Given the description of an element on the screen output the (x, y) to click on. 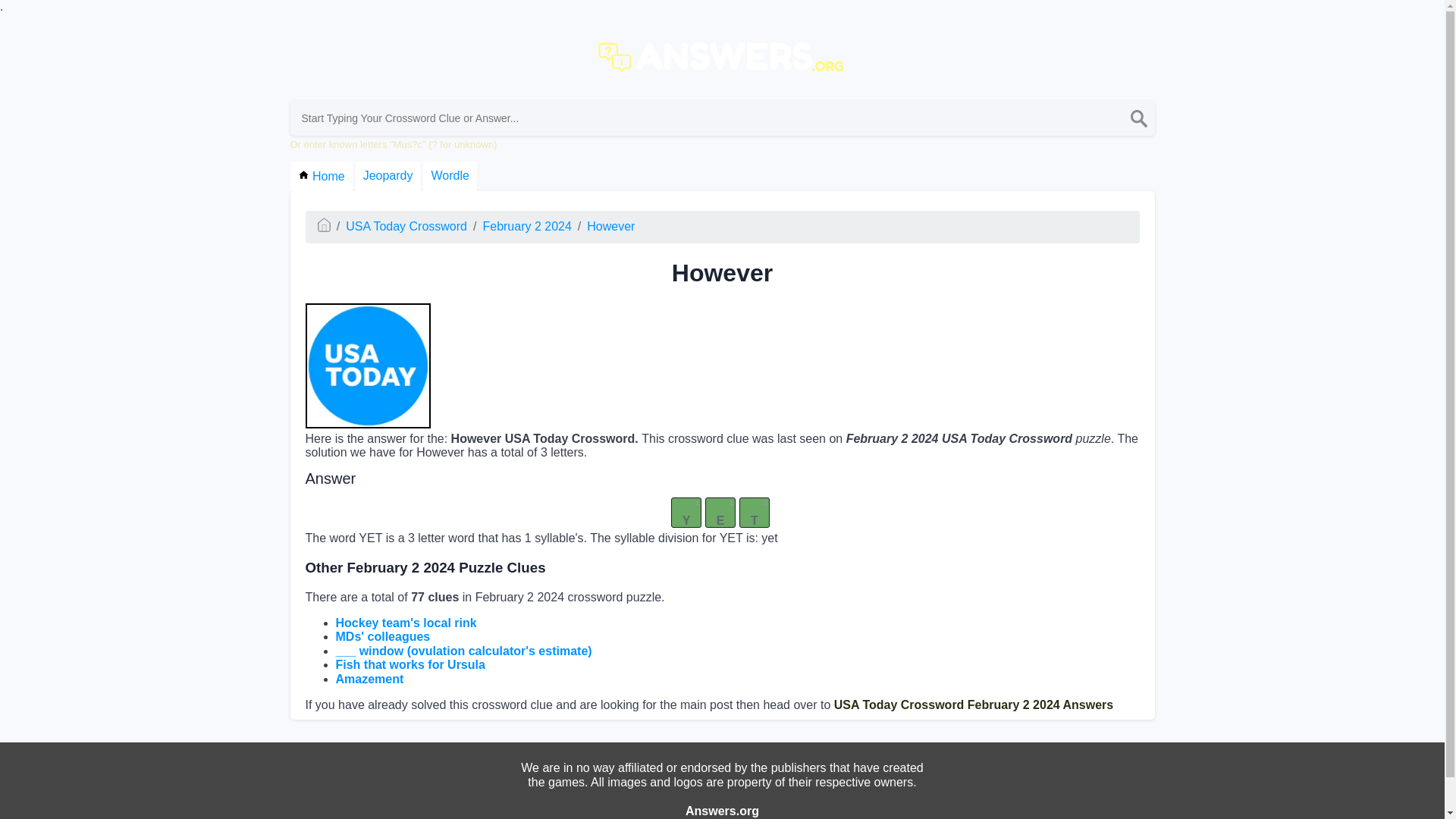
MDs' colleagues (381, 635)
Sitemap (689, 816)
Fish that works for Ursula (409, 664)
Wordle (449, 175)
Home (632, 816)
Amazement (368, 678)
USA Today Crossword (406, 226)
Answers.org (721, 810)
Jeopardy (387, 175)
USA Today Crossword February 2 2024 Answers (973, 704)
